Given the description of an element on the screen output the (x, y) to click on. 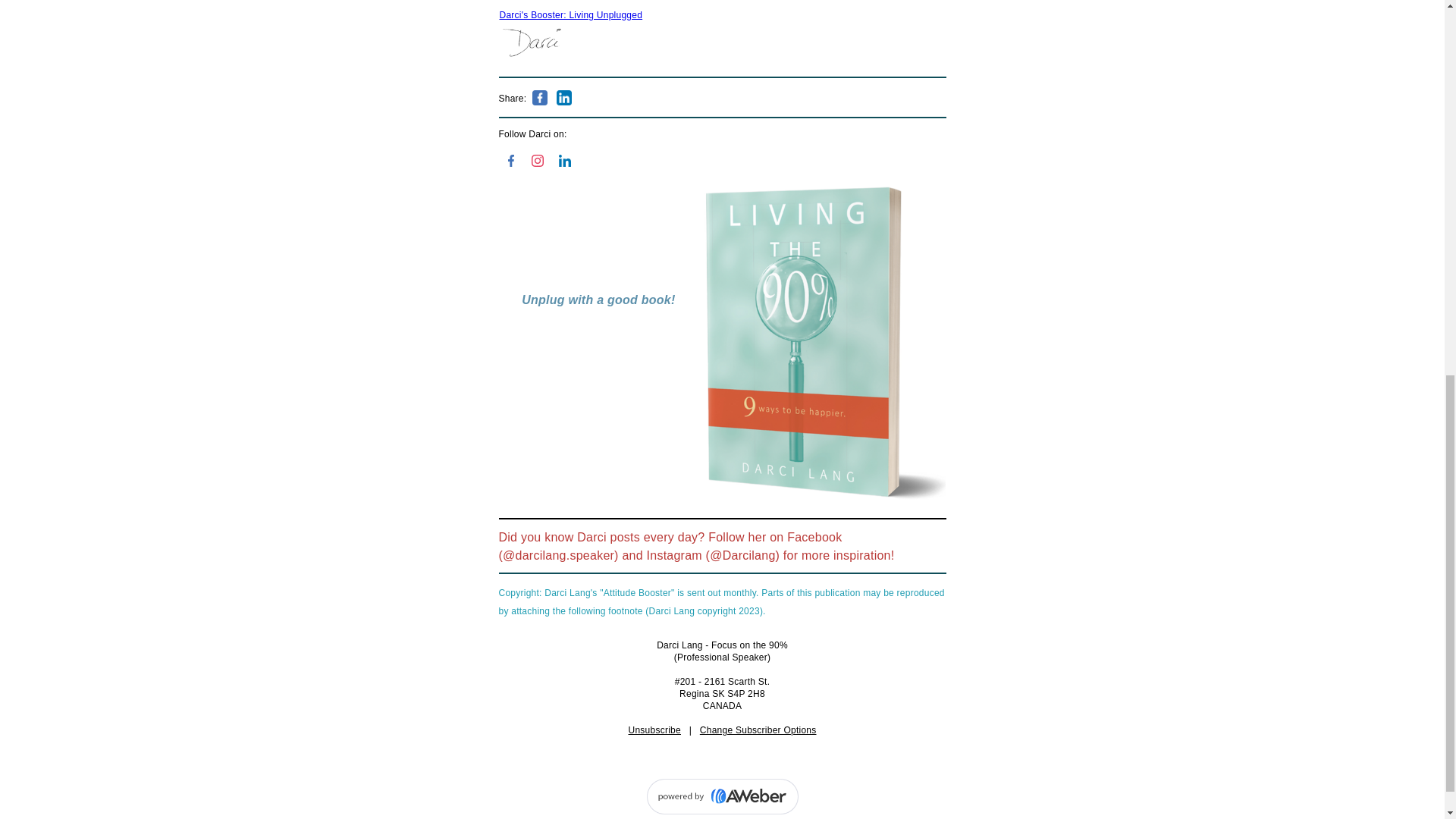
Unsubscribe (653, 729)
Change Subscriber Options (758, 729)
Darci's Booster: Living Unplugged (570, 14)
